Given the description of an element on the screen output the (x, y) to click on. 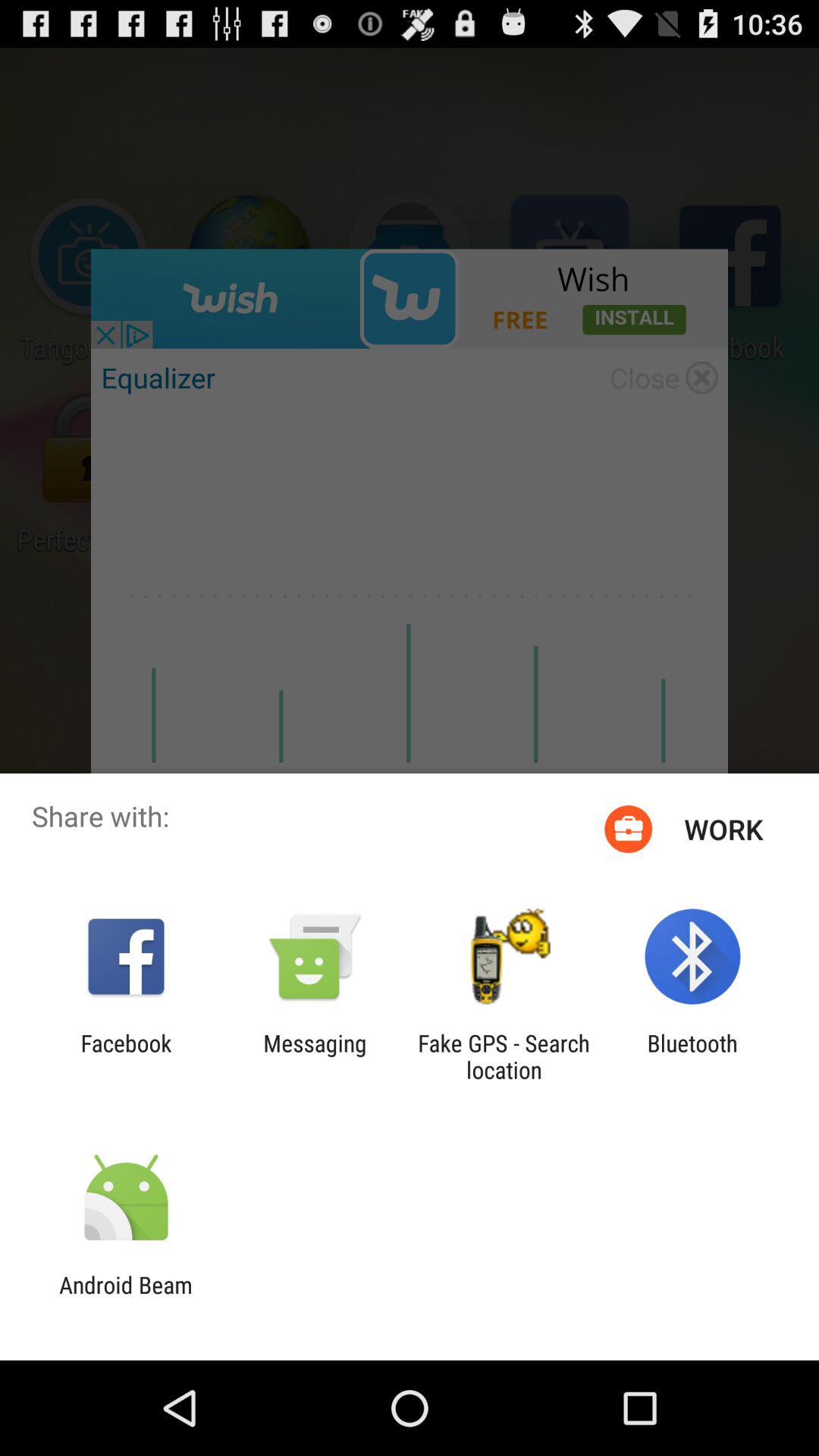
click fake gps search (503, 1056)
